Given the description of an element on the screen output the (x, y) to click on. 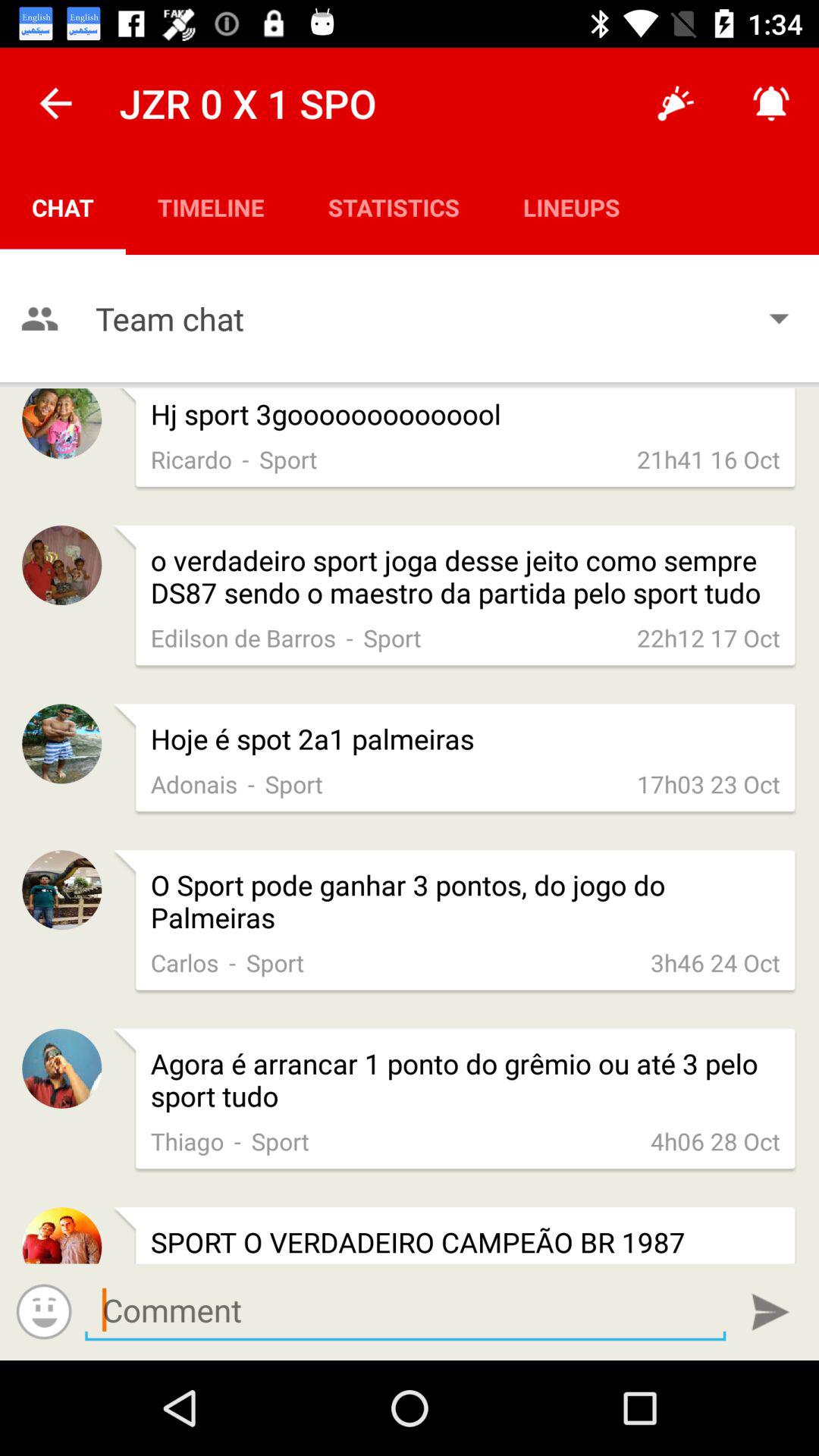
select emoji (44, 1311)
